Given the description of an element on the screen output the (x, y) to click on. 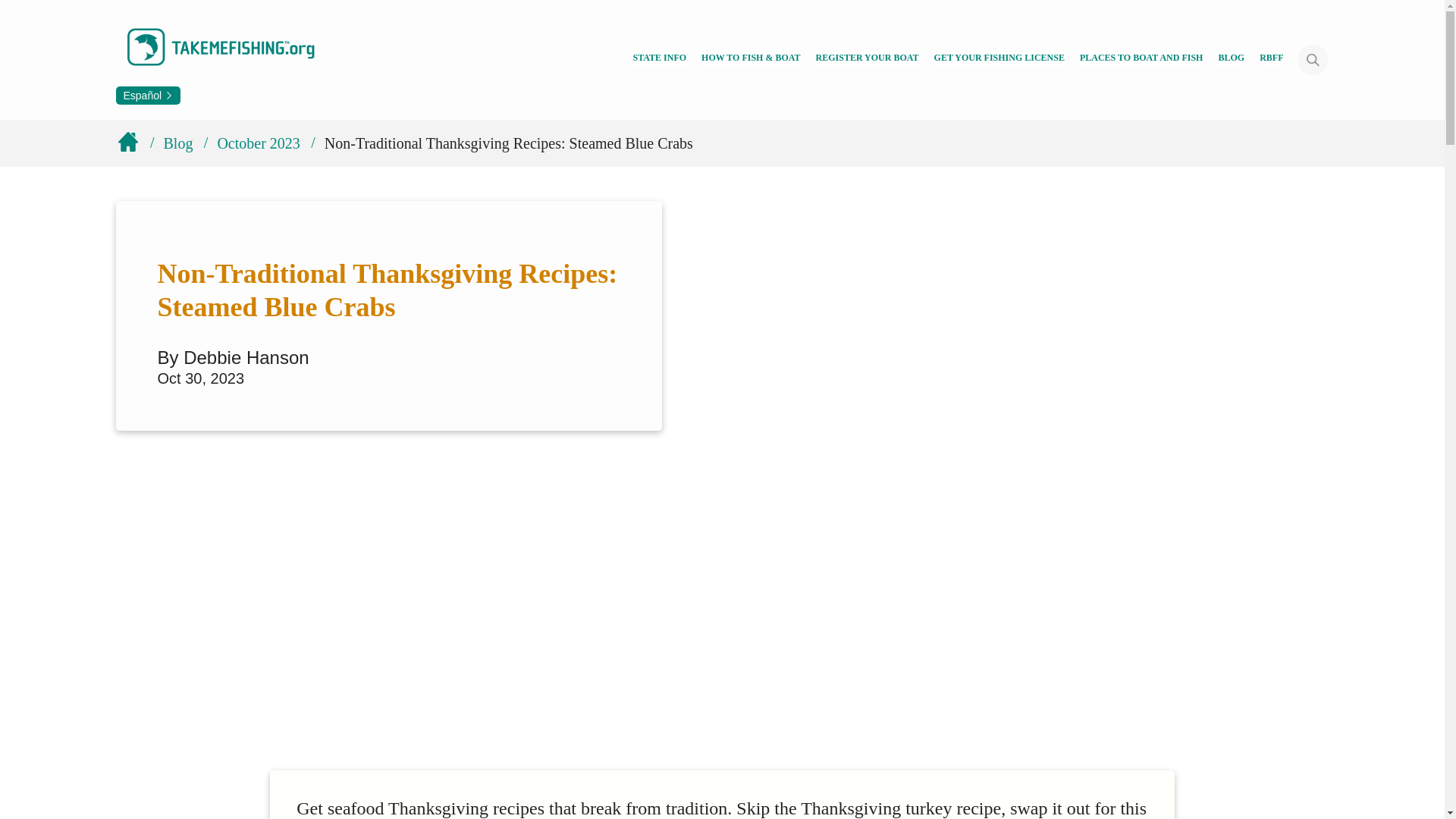
REGISTER YOUR BOAT (866, 59)
RBFF (1270, 59)
Get Your Fishing License (999, 59)
GET YOUR FISHING LICENSE (999, 59)
Blog (1230, 59)
RBFF (1270, 59)
PLACES TO BOAT AND FISH (1142, 59)
BLOG (1230, 59)
Places To Boat And Fish (1142, 59)
Register Your Boat (866, 59)
